Given the description of an element on the screen output the (x, y) to click on. 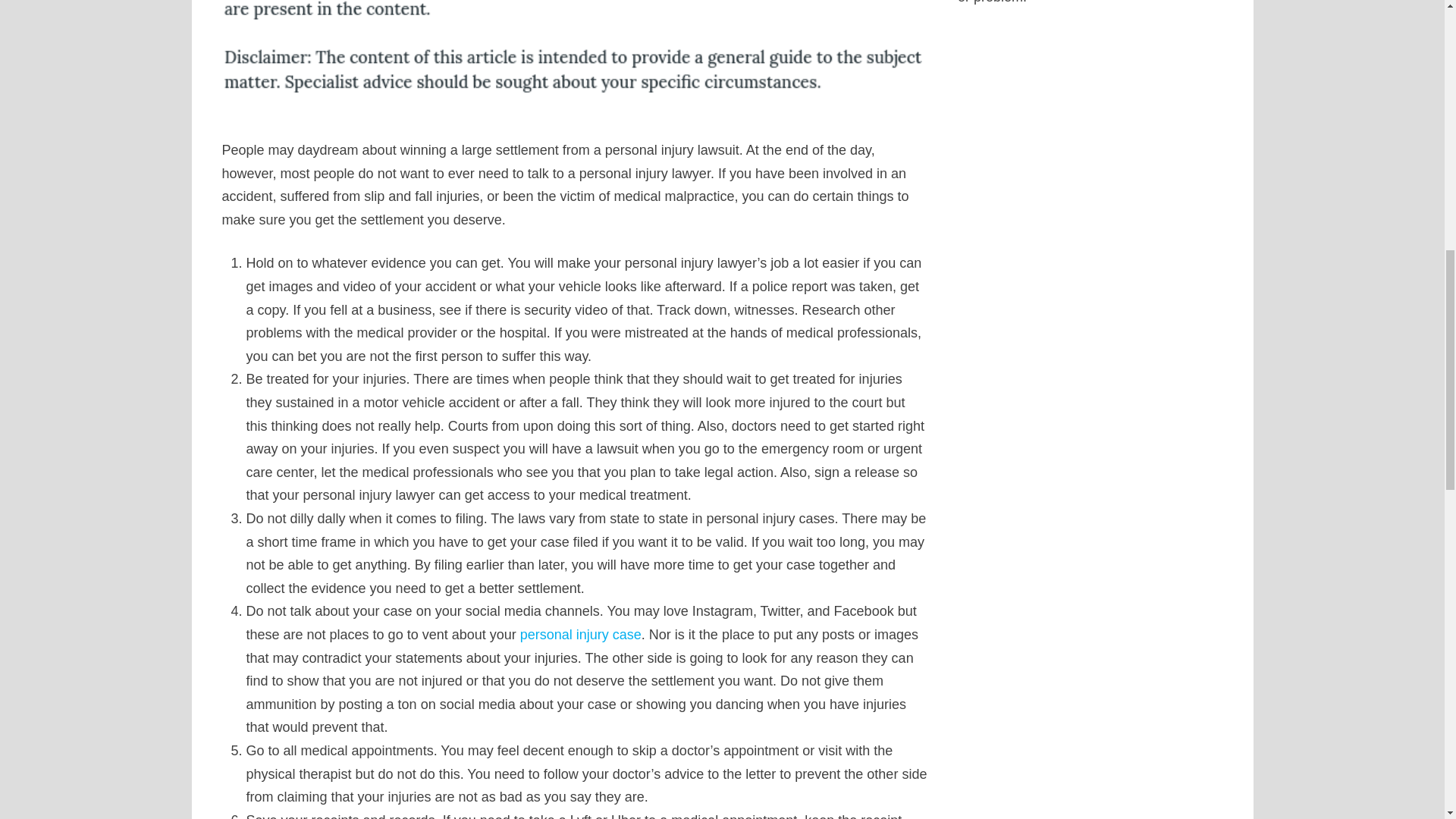
personal injury case (580, 634)
a link I like (580, 634)
